Given the description of an element on the screen output the (x, y) to click on. 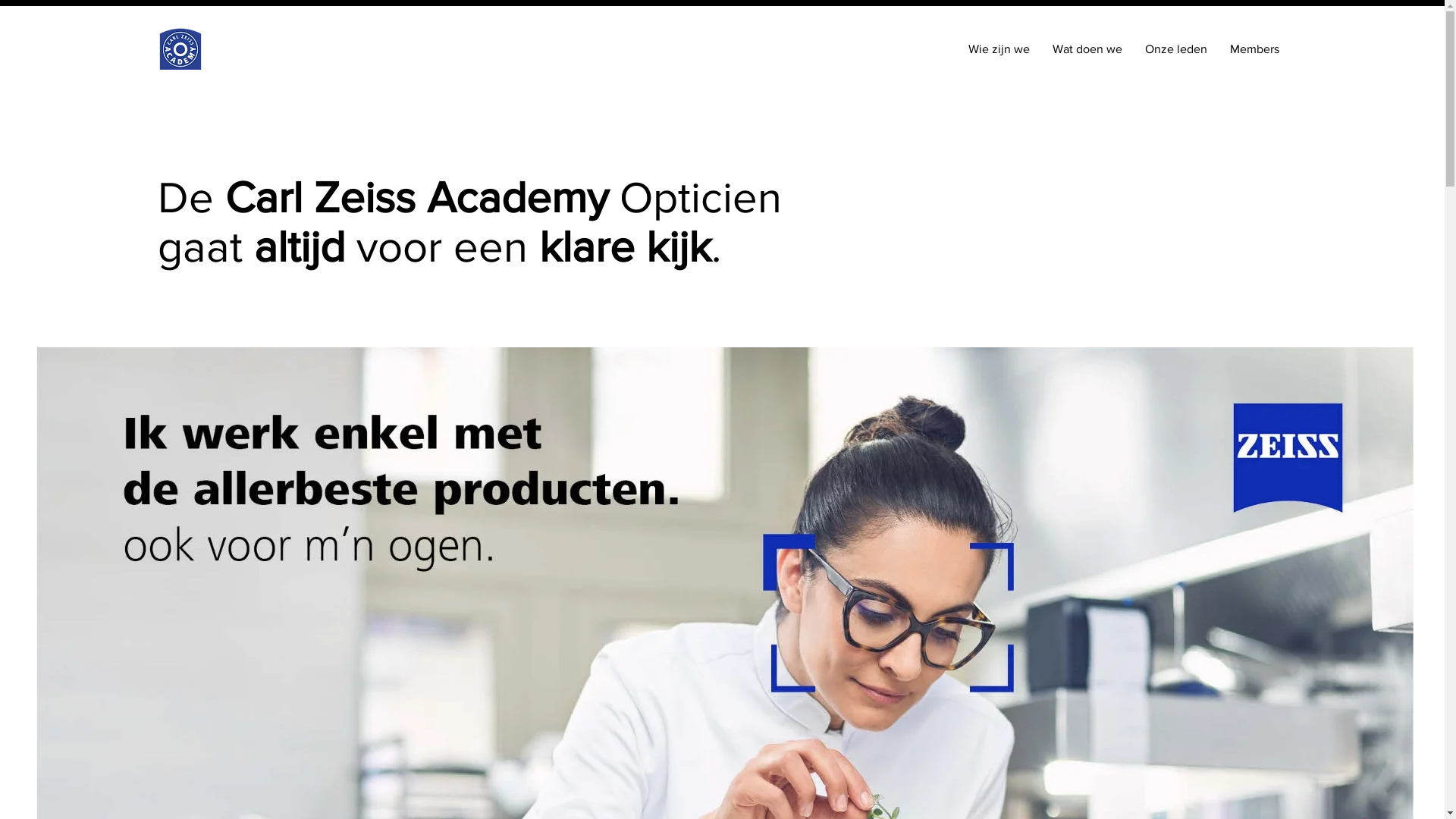
Onze leden Element type: text (1175, 49)
Wat doen we Element type: text (1087, 49)
Wie zijn we Element type: text (999, 49)
Members Element type: text (1254, 49)
